Given the description of an element on the screen output the (x, y) to click on. 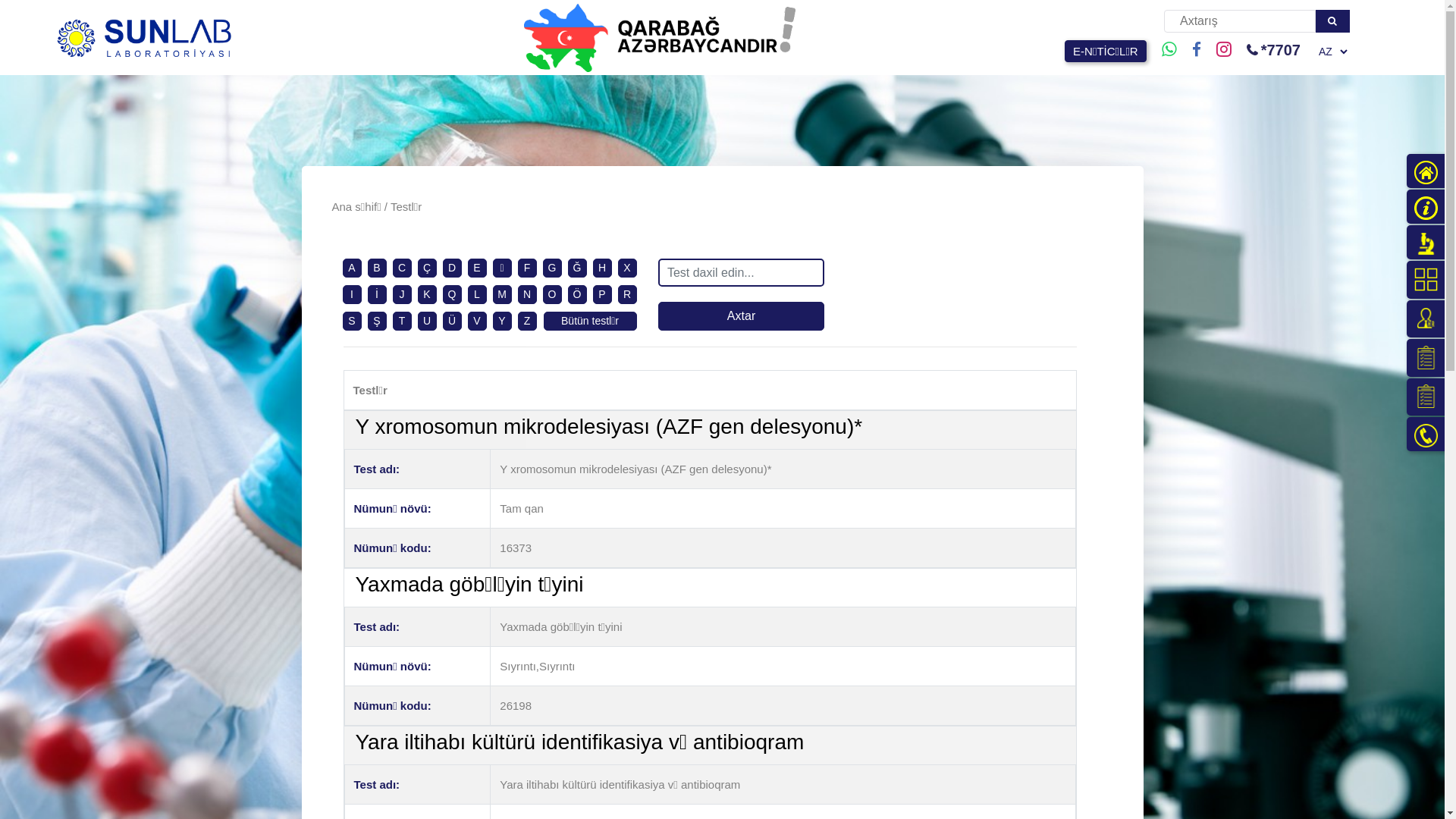
L Element type: text (476, 294)
H Element type: text (601, 267)
Facebook Element type: hover (1196, 49)
B Element type: text (376, 267)
U Element type: text (426, 320)
O Element type: text (552, 294)
T Element type: text (401, 320)
X Element type: text (626, 267)
WhatsApp Element type: hover (1168, 49)
V Element type: text (476, 320)
*7707 Element type: text (1251, 50)
Axtar Element type: text (741, 315)
G Element type: text (552, 267)
S Element type: text (351, 320)
I Element type: text (351, 294)
P Element type: text (601, 294)
R Element type: text (626, 294)
Y Element type: text (501, 320)
N Element type: text (526, 294)
Q Element type: text (452, 294)
Instagram Element type: hover (1223, 49)
E Element type: text (476, 267)
J Element type: text (401, 294)
M Element type: text (501, 294)
F Element type: text (527, 267)
K Element type: text (426, 294)
C Element type: text (401, 267)
A Element type: text (351, 267)
D Element type: text (451, 267)
Z Element type: text (527, 320)
